Given the description of an element on the screen output the (x, y) to click on. 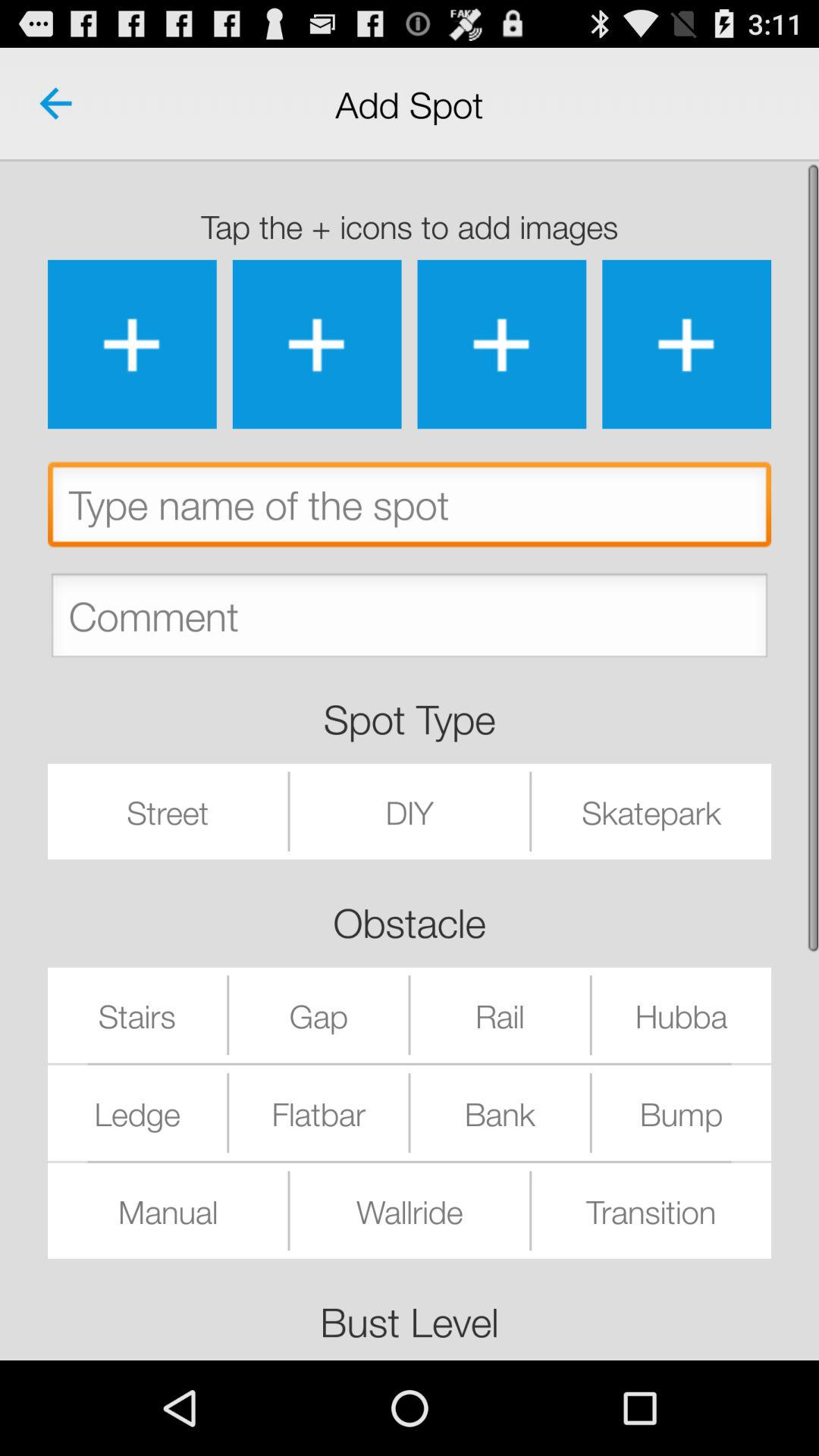
press icon above the rail (651, 811)
